Given the description of an element on the screen output the (x, y) to click on. 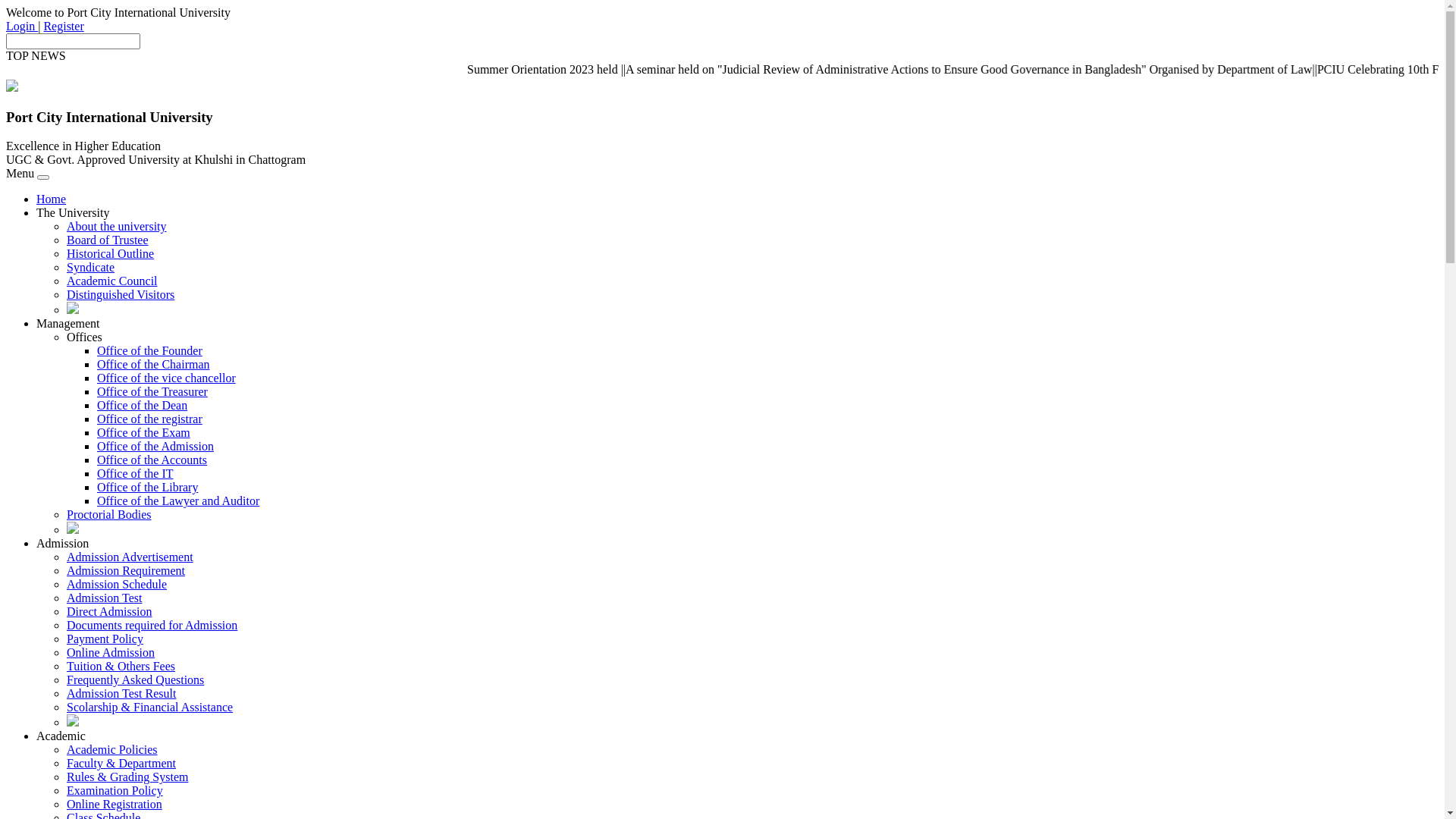
Examination Policy Element type: text (114, 790)
Office of the Admission Element type: text (155, 445)
Management Element type: text (68, 322)
Online Registration Element type: text (114, 803)
Direct Admission Element type: text (108, 611)
Rules & Grading System Element type: text (127, 776)
Office of the Lawyer and Auditor Element type: text (178, 500)
Office of the Library Element type: text (147, 486)
Academic Policies Element type: text (111, 749)
Proctorial Bodies Element type: text (108, 514)
Offices Element type: text (84, 336)
Scolarship & Financial Assistance Element type: text (149, 706)
Office of the vice chancellor Element type: text (166, 377)
Tuition & Others Fees Element type: text (120, 665)
Faculty & Department Element type: text (120, 762)
Admission Schedule Element type: text (116, 583)
Distinguished Visitors Element type: text (120, 294)
Payment Policy Element type: text (104, 638)
Admission Test Result Element type: text (120, 693)
Login Element type: text (21, 25)
The University Element type: text (72, 212)
Office of the Treasurer Element type: text (152, 391)
Frequently Asked Questions Element type: text (134, 679)
Admission Advertisement Element type: text (129, 556)
Academic Council Element type: text (111, 280)
Register Element type: text (63, 25)
Office of the Chairman Element type: text (153, 363)
Admission Test Element type: text (103, 597)
Office of the Accounts Element type: text (152, 459)
Office of the IT Element type: text (135, 473)
Admission Requirement Element type: text (125, 570)
About the university Element type: text (116, 225)
Documents required for Admission Element type: text (151, 624)
Historical Outline Element type: text (109, 253)
Office of the Exam Element type: text (143, 432)
Academic Element type: text (60, 735)
Office of the Founder Element type: text (149, 350)
Office of the Dean Element type: text (142, 404)
Online Admission Element type: text (110, 652)
Syndicate Element type: text (90, 266)
Office of the registrar Element type: text (149, 418)
Home Element type: text (50, 198)
Admission Element type: text (62, 542)
Board of Trustee Element type: text (107, 239)
